Given the description of an element on the screen output the (x, y) to click on. 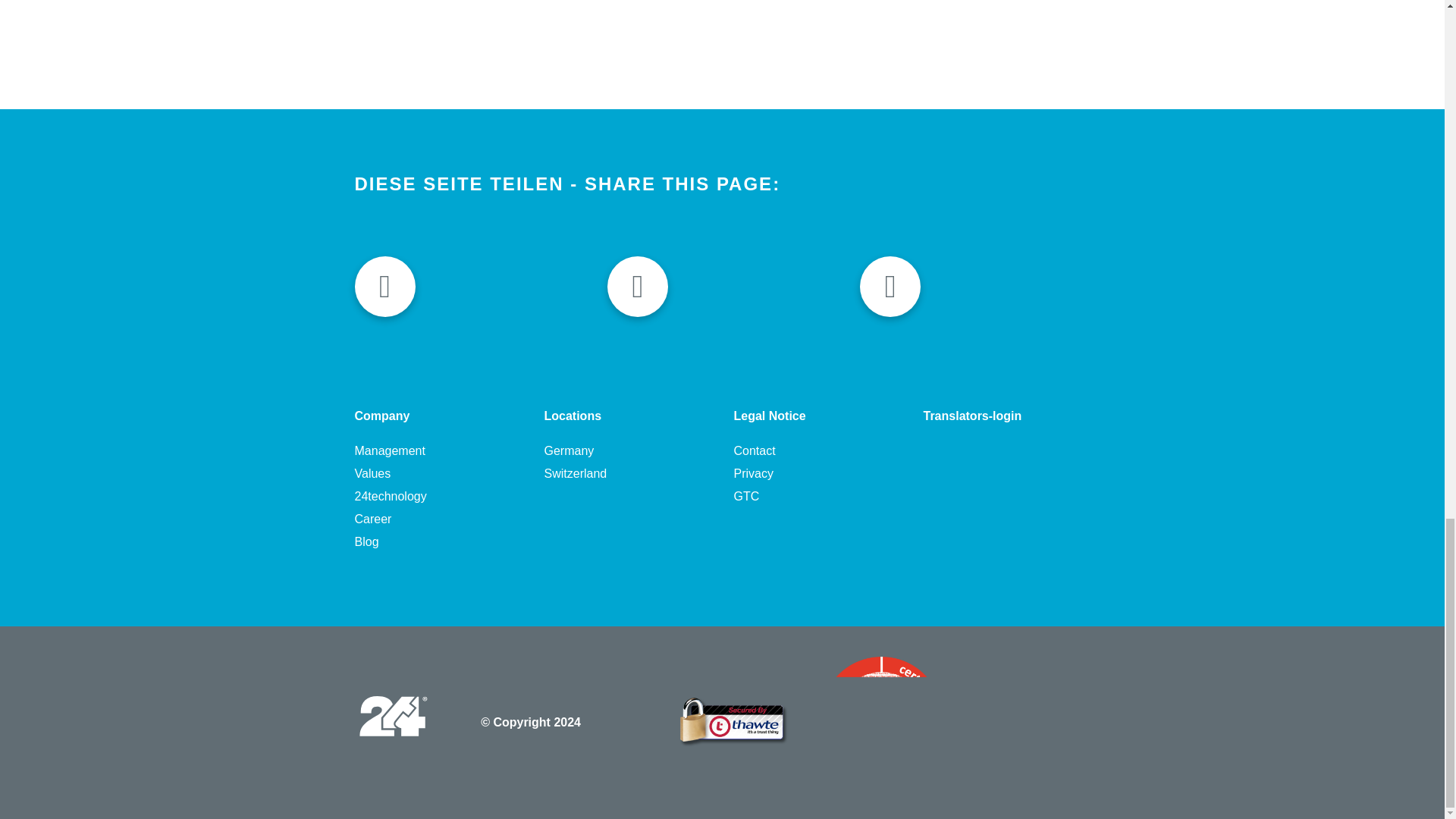
Facebook (384, 286)
LinkedIn (890, 286)
Twitter (637, 286)
